Given the description of an element on the screen output the (x, y) to click on. 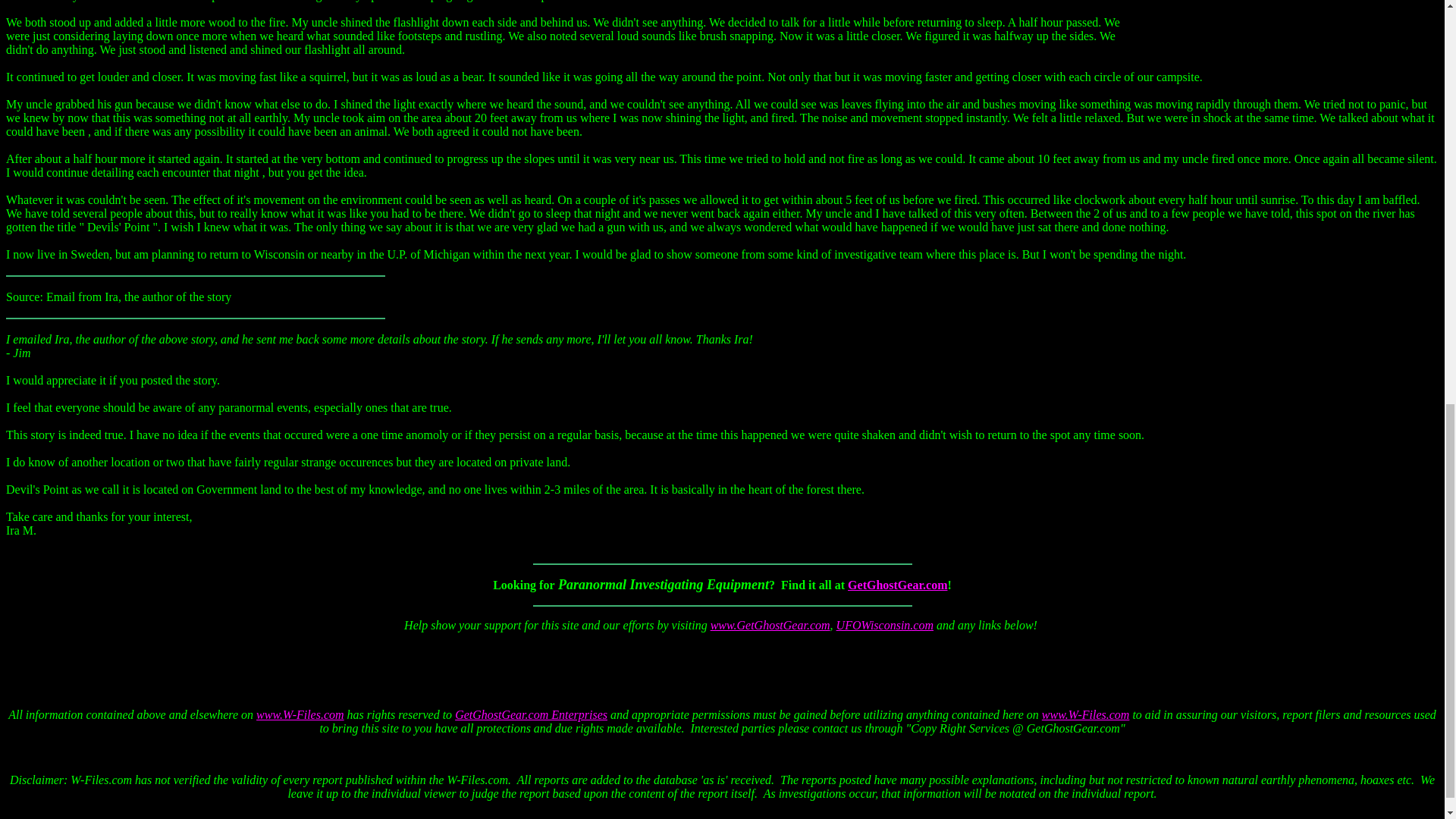
www.W-Files.com (1085, 714)
UFOWisconsin.com (884, 625)
www.W-Files.com (299, 714)
www.GetGhostGear.com (769, 625)
GetGhostGear.com (897, 584)
GetGhostGear.com Enterprises (530, 714)
